Given the description of an element on the screen output the (x, y) to click on. 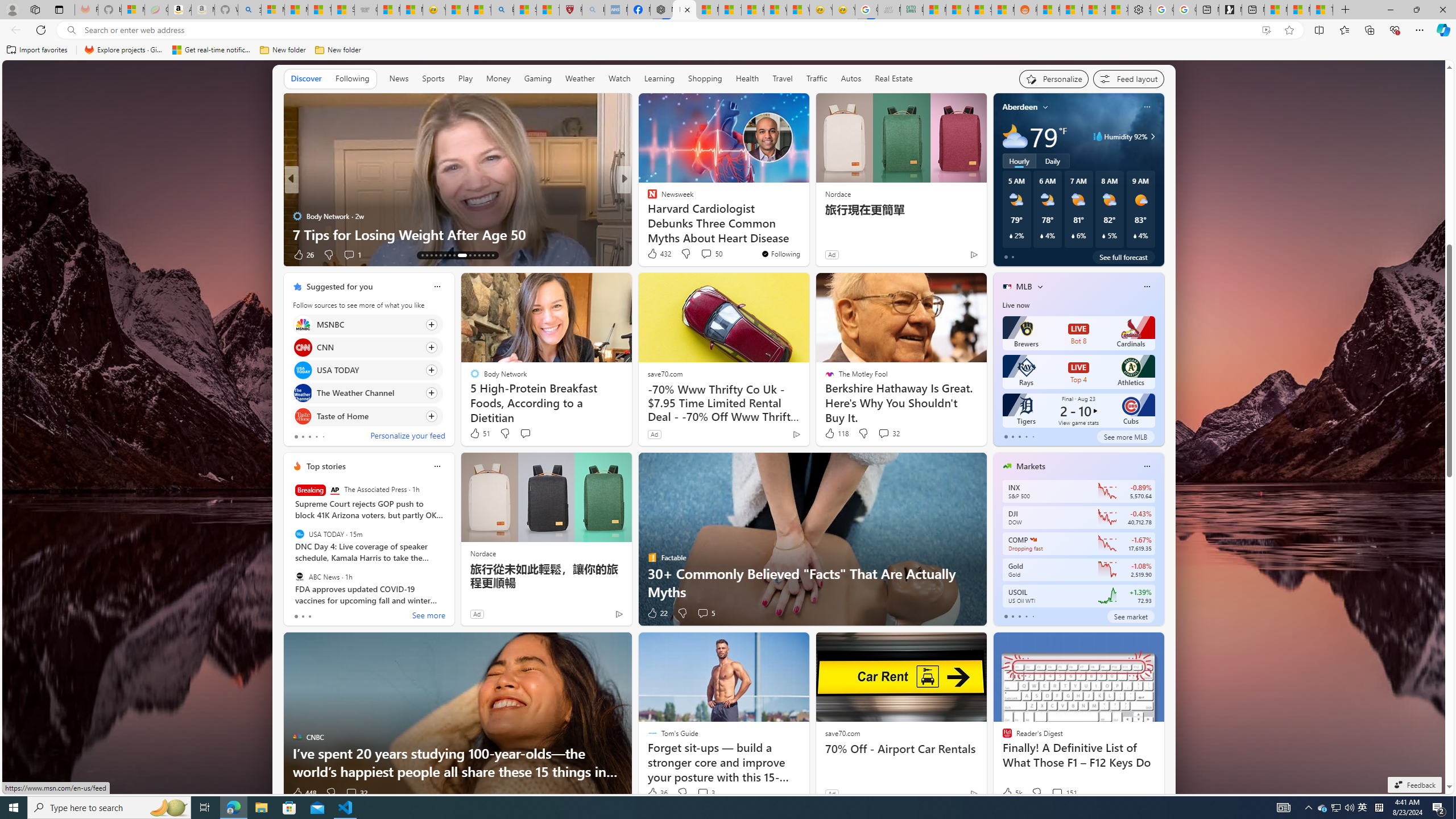
Sports (432, 79)
USA TODAY (299, 533)
